Given the description of an element on the screen output the (x, y) to click on. 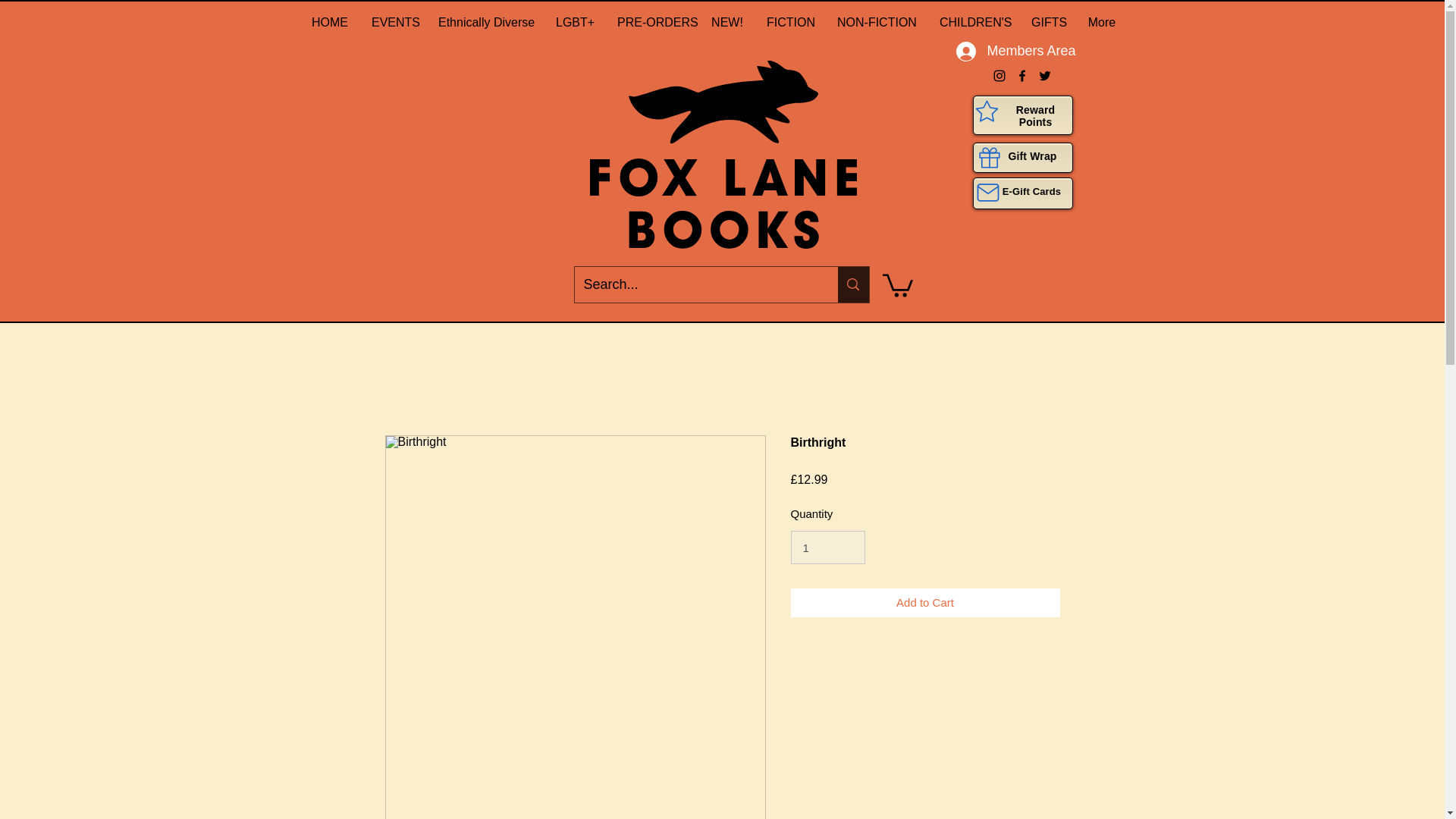
PRE-ORDERS (651, 22)
NEW! (726, 22)
HOME (329, 22)
FICTION (789, 22)
1 (827, 547)
NON-FICTION (876, 22)
Ethnically Diverse (484, 22)
